Given the description of an element on the screen output the (x, y) to click on. 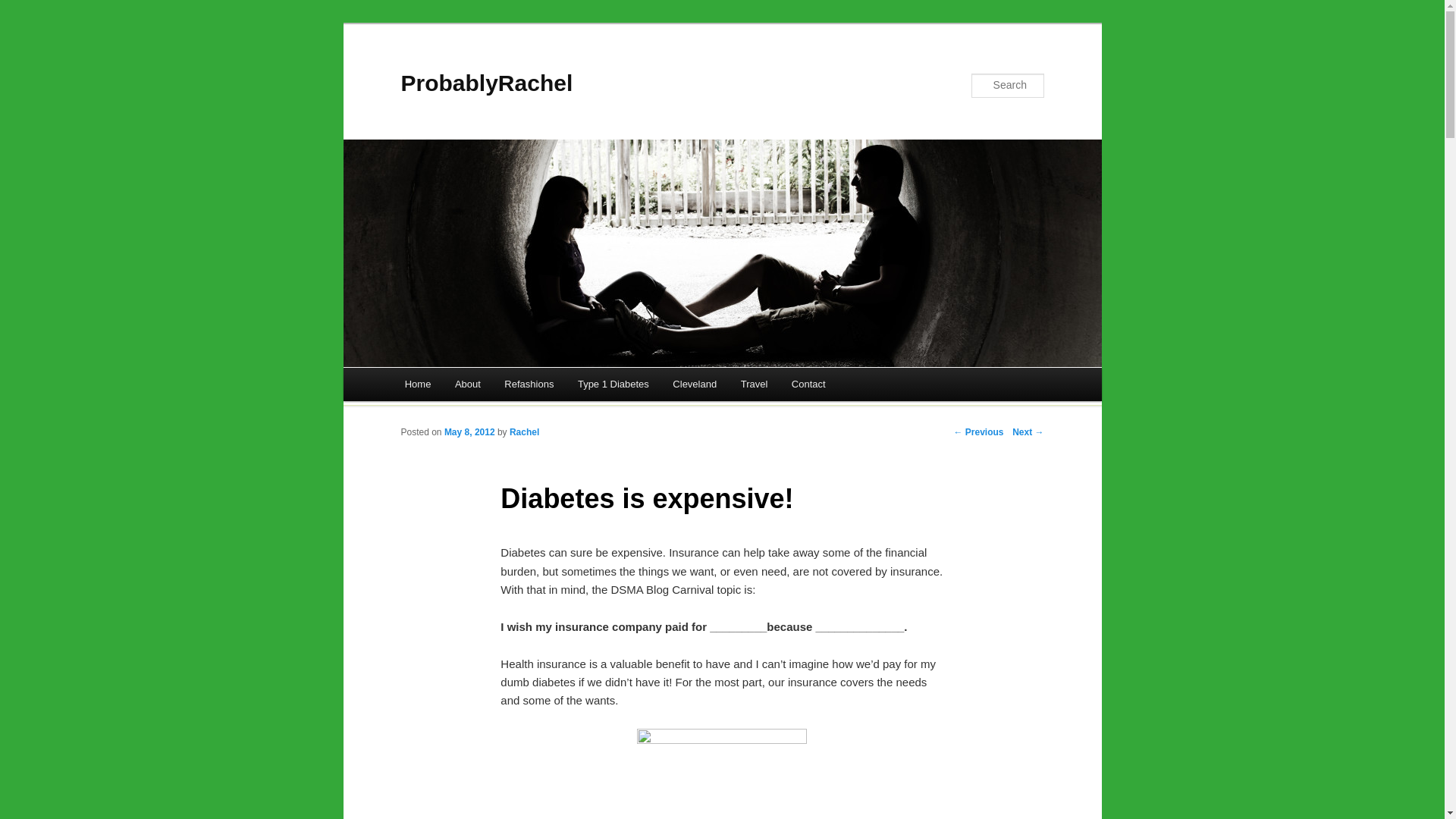
Travel (753, 383)
About (467, 383)
Contact (807, 383)
Type 1 Diabetes (613, 383)
May 8, 2012 (469, 431)
ProbablyRachel (486, 82)
ProbablyRachel (486, 82)
Skip to content (451, 386)
Rachel (523, 431)
Refashions (529, 383)
